Given the description of an element on the screen output the (x, y) to click on. 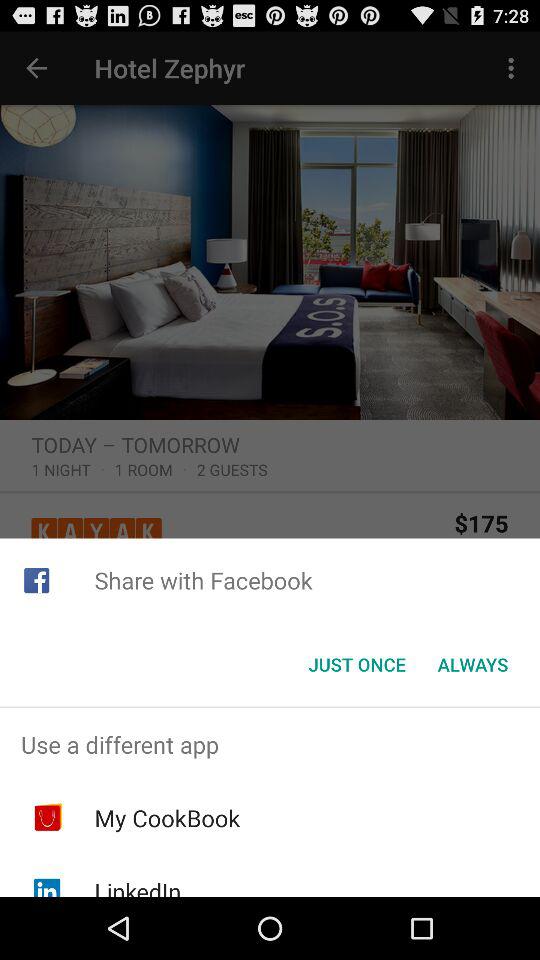
swipe until the use a different app (270, 744)
